Given the description of an element on the screen output the (x, y) to click on. 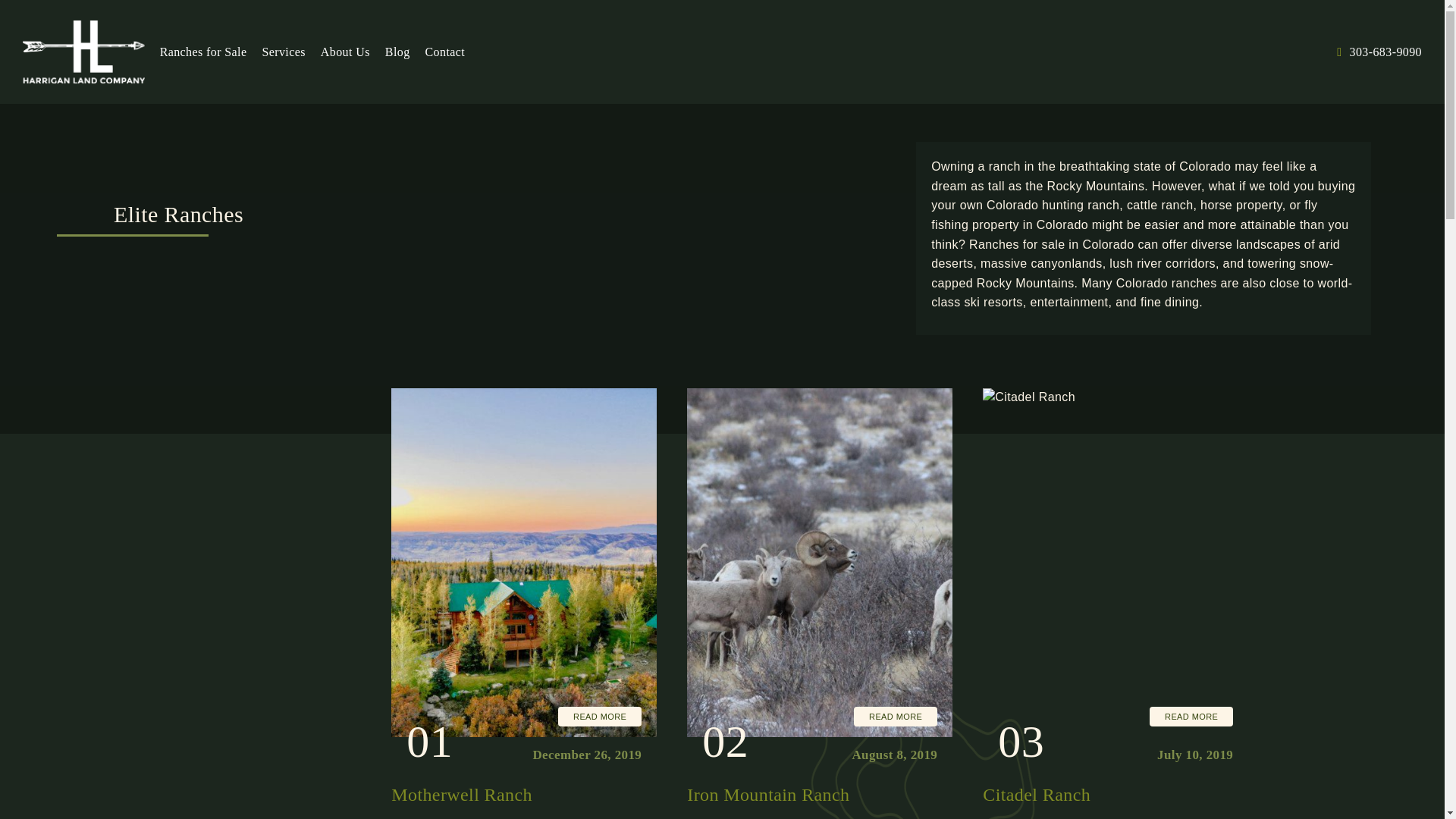
Blog (397, 51)
Contact (445, 51)
303-683-9090 (1379, 51)
READ MORE (895, 716)
Citadel Ranch (1036, 794)
READ MORE (599, 716)
About Us (345, 51)
Iron Mountain Ranch (767, 794)
Ranches for Sale (203, 51)
Motherwell Ranch (461, 794)
Services (283, 51)
READ MORE (1191, 716)
